Given the description of an element on the screen output the (x, y) to click on. 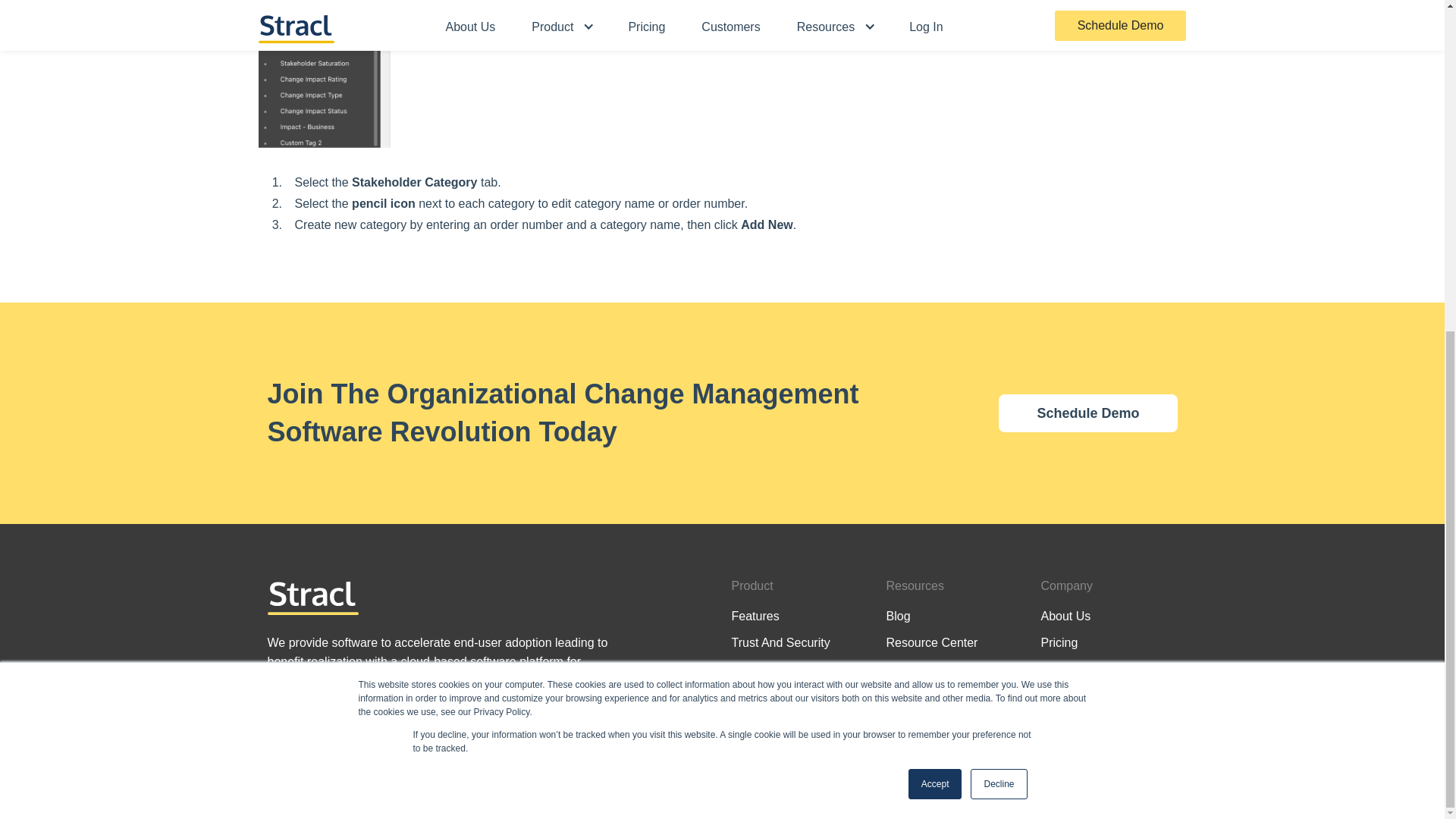
Accept (935, 234)
About Us (1065, 615)
Blog (897, 615)
Decline (998, 234)
Pricing (1059, 642)
Features (754, 615)
LinkedIn (612, 717)
Schedule Demo (1087, 412)
Resource Center (930, 642)
Contact Us (914, 669)
Trust And Security (779, 642)
